Given the description of an element on the screen output the (x, y) to click on. 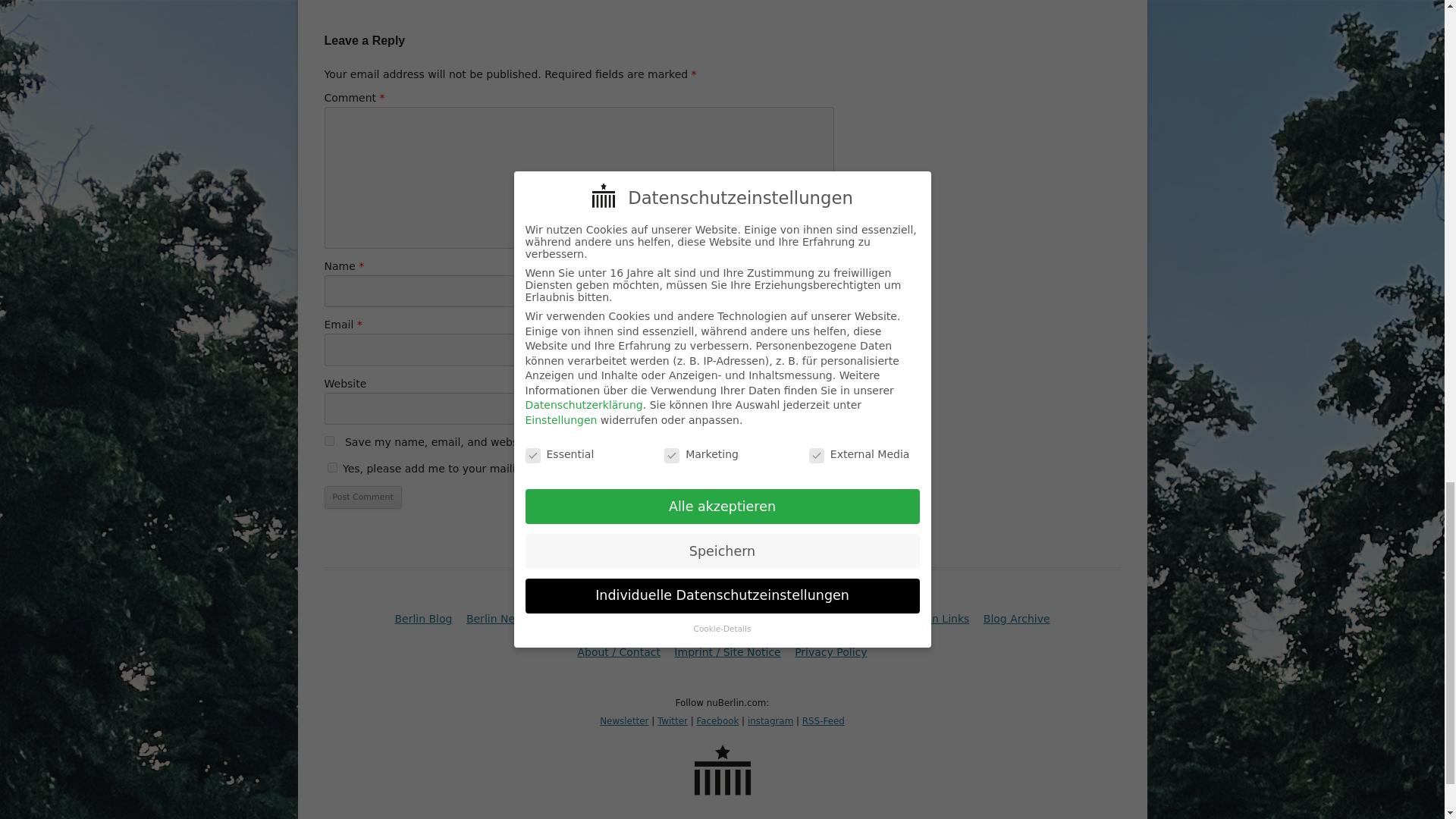
Opens in a new window (770, 720)
Opens in a new window (672, 720)
1 (332, 467)
Opens in a new window (716, 720)
Post Comment (362, 497)
Post Comment (362, 497)
yes (329, 440)
